Given the description of an element on the screen output the (x, y) to click on. 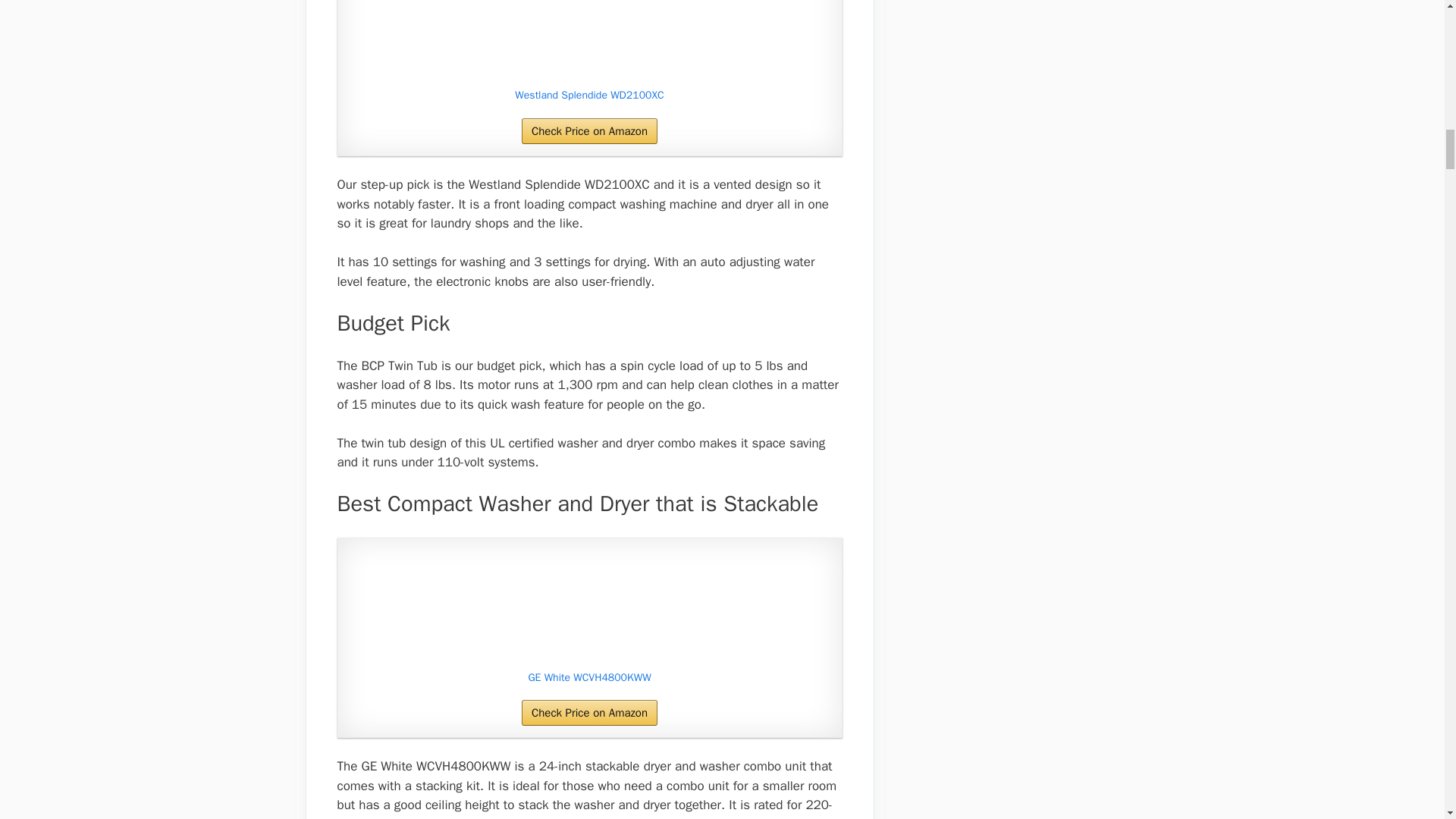
Westland Splendide WD2100XC (589, 40)
GE White WCVH4800KWW (589, 606)
Check Price on Amazon (589, 712)
Check Price on Amazon (589, 130)
Westland Splendide WD2100XC (589, 95)
Westland Splendide WD2100XC (589, 95)
GE White WCVH4800KWW (589, 677)
GE White WCVH4800KWW (589, 677)
Check Price on Amazon (589, 712)
Check Price on Amazon (589, 130)
Best Compact Washer and Dryer 2 (589, 40)
Best Compact Washer and Dryer 3 (589, 606)
